Given the description of an element on the screen output the (x, y) to click on. 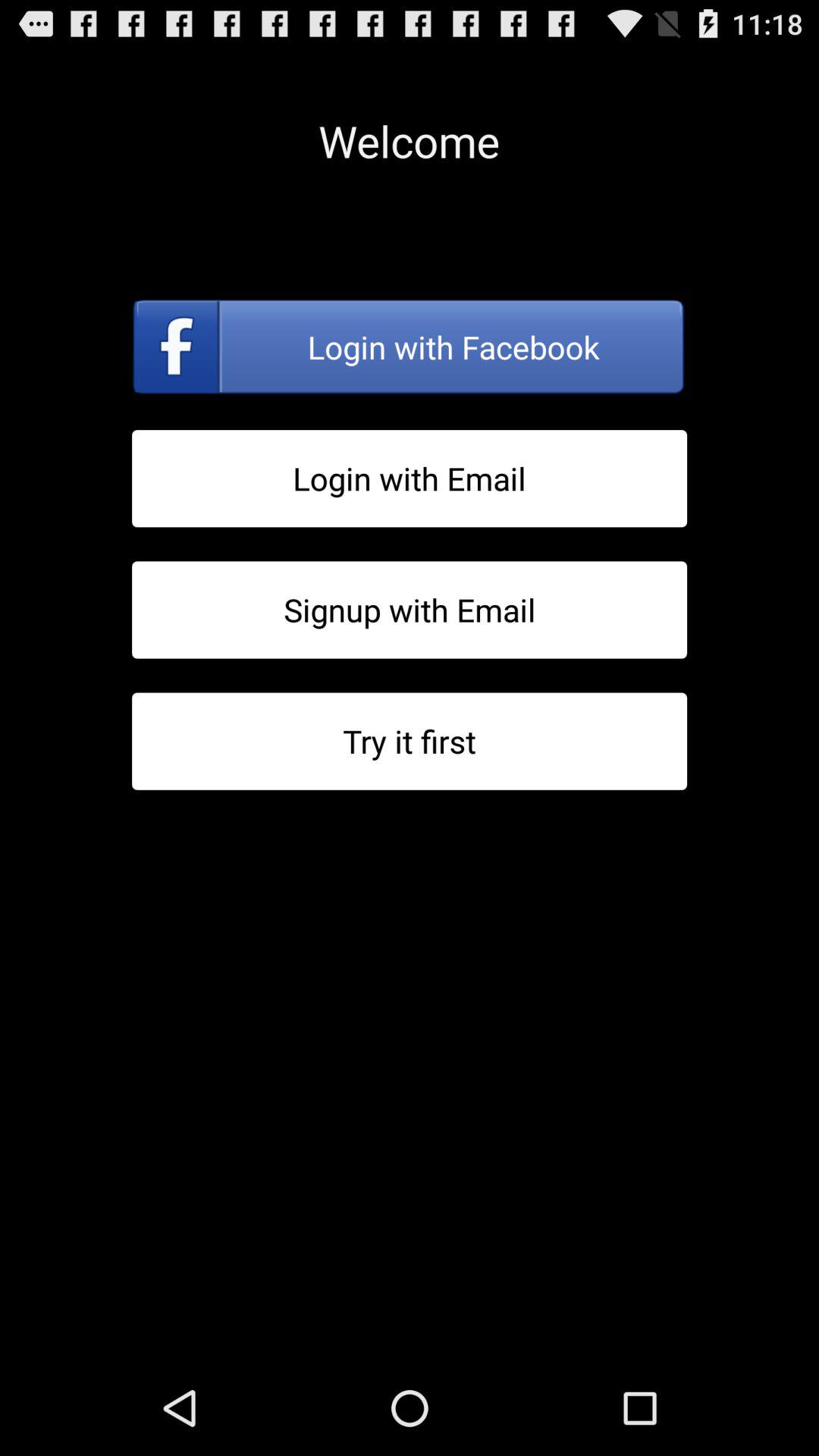
sign up with email (409, 609)
